Given the description of an element on the screen output the (x, y) to click on. 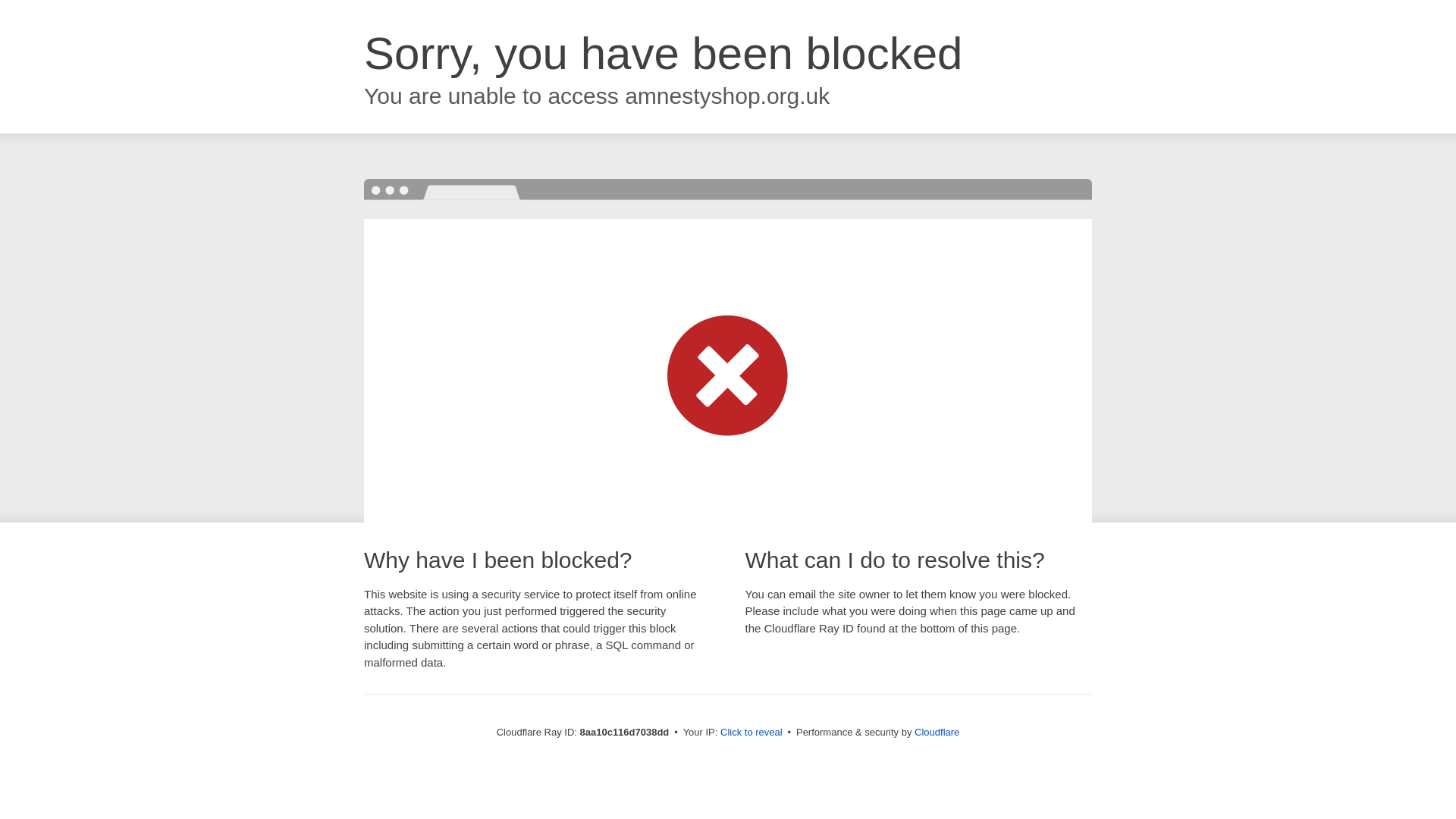
Cloudflare (936, 731)
Click to reveal (751, 732)
